Given the description of an element on the screen output the (x, y) to click on. 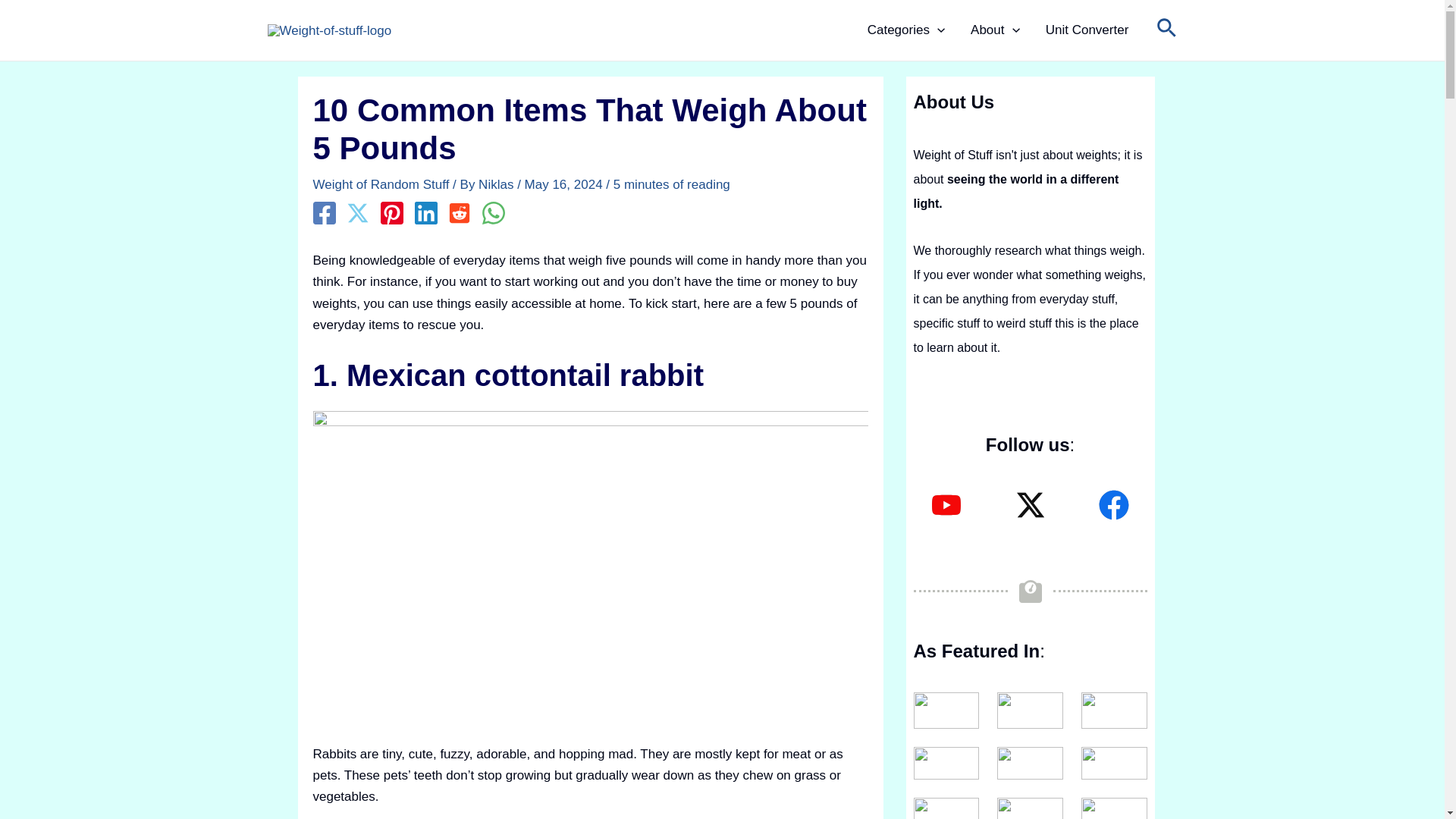
View all posts by Niklas (497, 184)
About (995, 30)
Unit Converter (1086, 30)
Categories (906, 30)
